Given the description of an element on the screen output the (x, y) to click on. 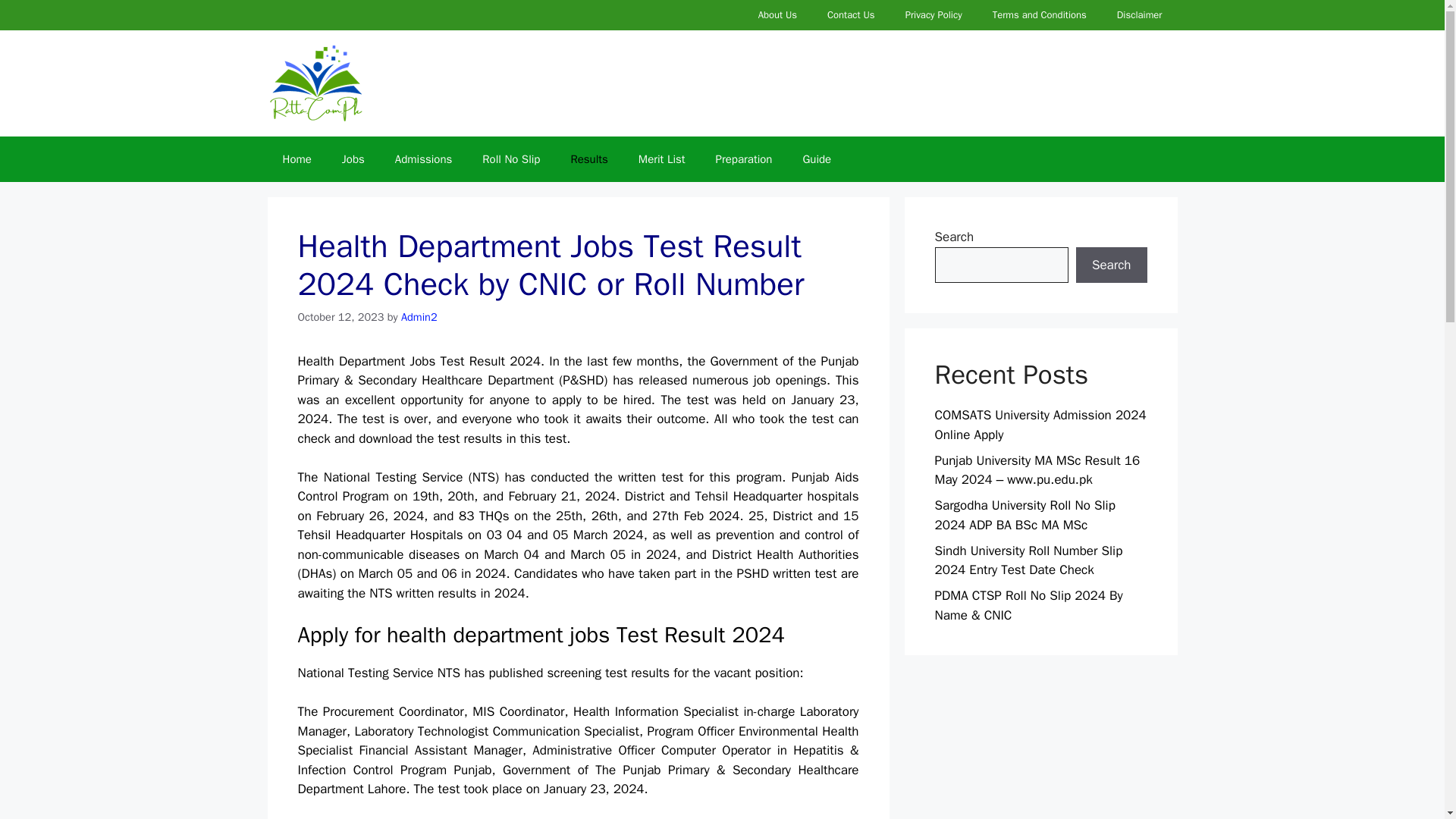
Merit List (661, 158)
Admissions (423, 158)
View all posts by Admin2 (419, 316)
Privacy Policy (932, 15)
Roll No Slip (510, 158)
Results (588, 158)
Search (1111, 265)
Jobs (353, 158)
Sindh University Roll Number Slip 2024 Entry Test Date Check (1028, 560)
Preparation (743, 158)
Guide (816, 158)
Contact Us (850, 15)
Home (296, 158)
About Us (777, 15)
COMSATS University Admission 2024 Online Apply (1039, 425)
